Given the description of an element on the screen output the (x, y) to click on. 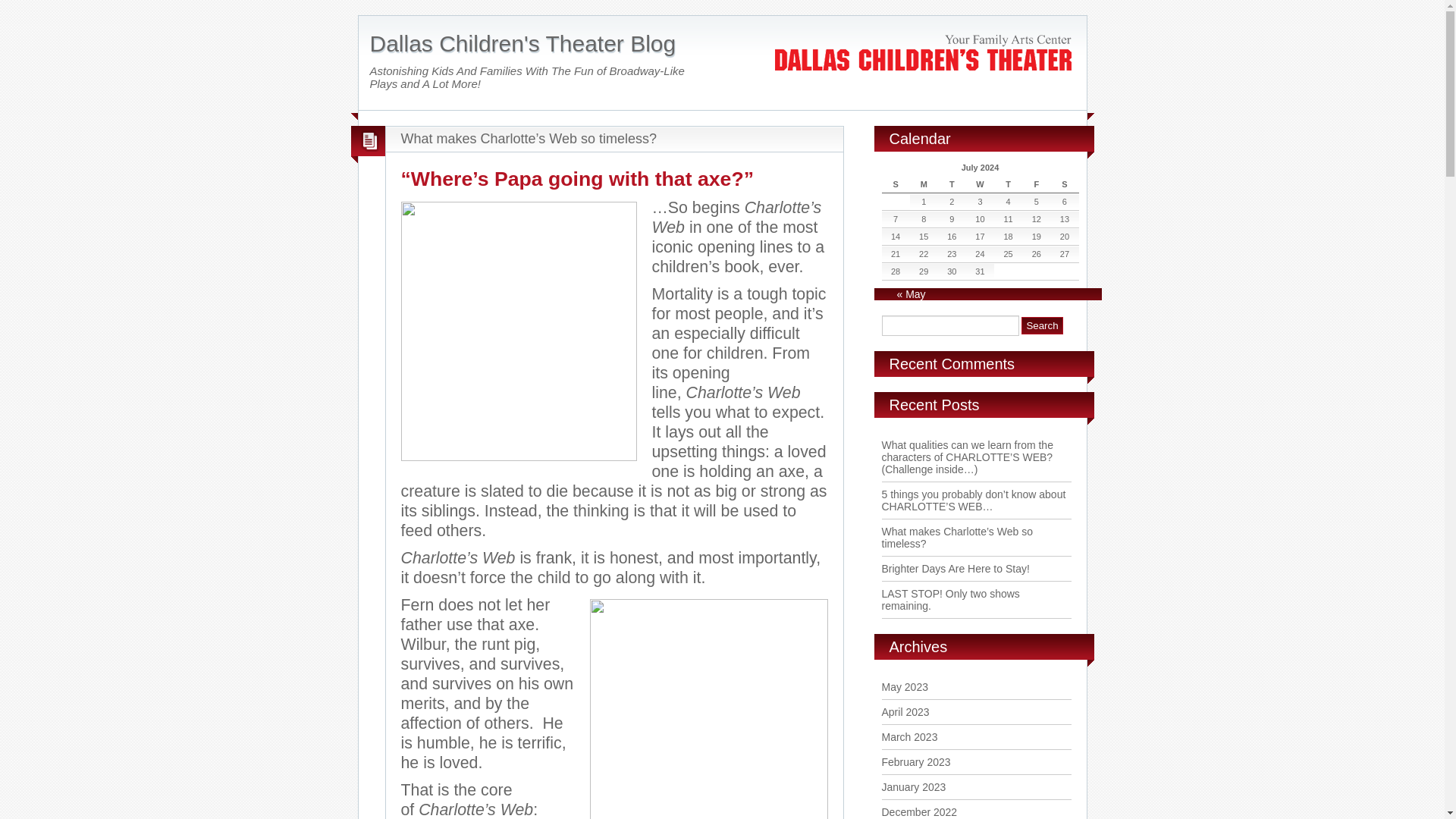
March 2023 (908, 736)
Search (1042, 325)
Sunday (894, 184)
Monday (923, 184)
Saturday (1063, 184)
LAST STOP! Only two shows remaining. (949, 599)
Friday (1035, 184)
February 2023 (915, 761)
December 2022 (918, 811)
Dallas Children's Theater Blog (523, 43)
Wednesday (980, 184)
Brighter Days Are Here to Stay! (954, 568)
May 2023 (903, 686)
April 2023 (904, 711)
Tuesday (951, 184)
